Given the description of an element on the screen output the (x, y) to click on. 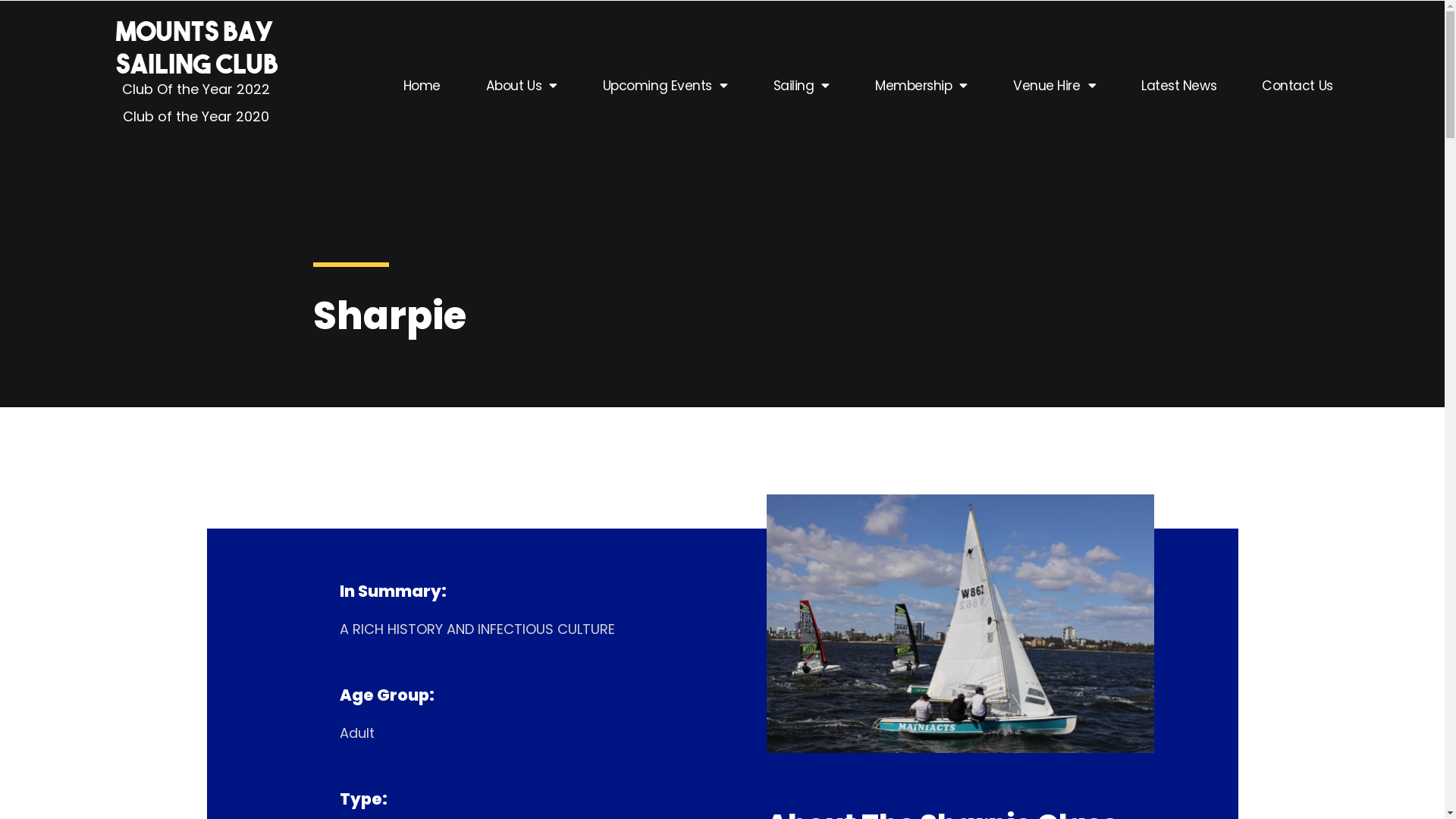
About Us Element type: text (521, 85)
Sailing Element type: text (801, 85)
Upcoming Events Element type: text (665, 85)
Membership Element type: text (921, 85)
Latest News Element type: text (1178, 85)
Home Element type: text (421, 85)
Venue Hire Element type: text (1054, 85)
Contact Us Element type: text (1297, 85)
